Given the description of an element on the screen output the (x, y) to click on. 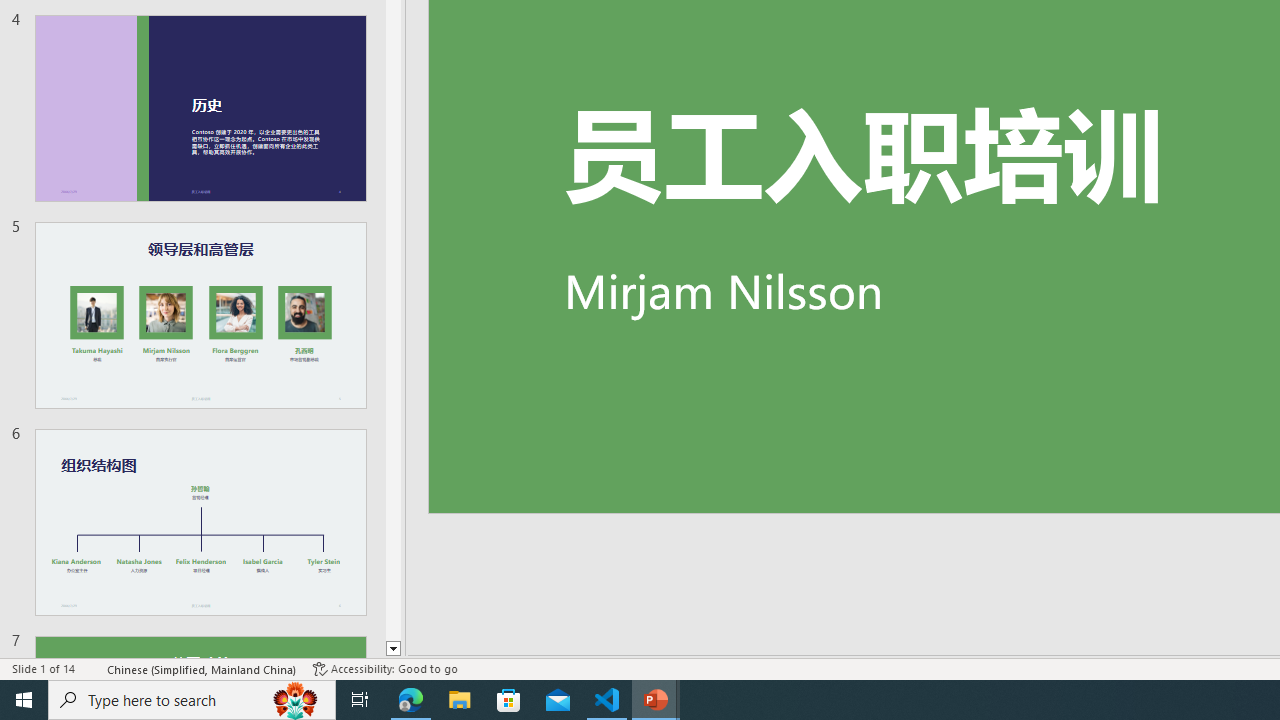
Start (24, 699)
File Explorer (460, 699)
Spell Check  (92, 668)
Search highlights icon opens search home window (295, 699)
Accessibility Checker Accessibility: Good to go (384, 668)
Microsoft Store (509, 699)
PowerPoint - 2 running windows (656, 699)
Task View (359, 699)
Microsoft Edge - 1 running window (411, 699)
Visual Studio Code - 1 running window (607, 699)
Type here to search (191, 699)
